Given the description of an element on the screen output the (x, y) to click on. 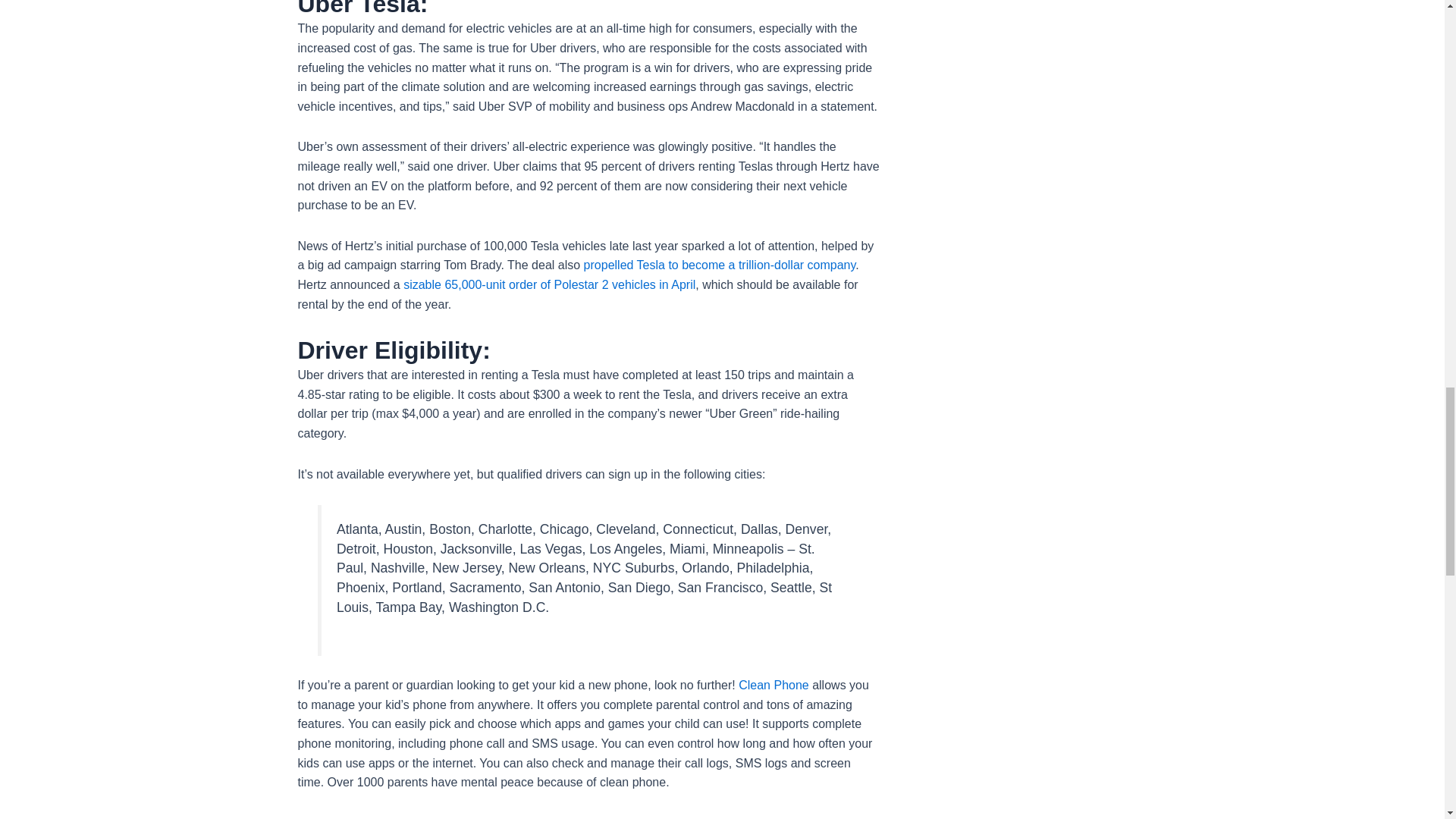
sizable 65,000-unit order of Polestar 2 vehicles in April (549, 284)
propelled Tesla to become a trillion-dollar company (719, 264)
Clean Phone (773, 684)
